Given the description of an element on the screen output the (x, y) to click on. 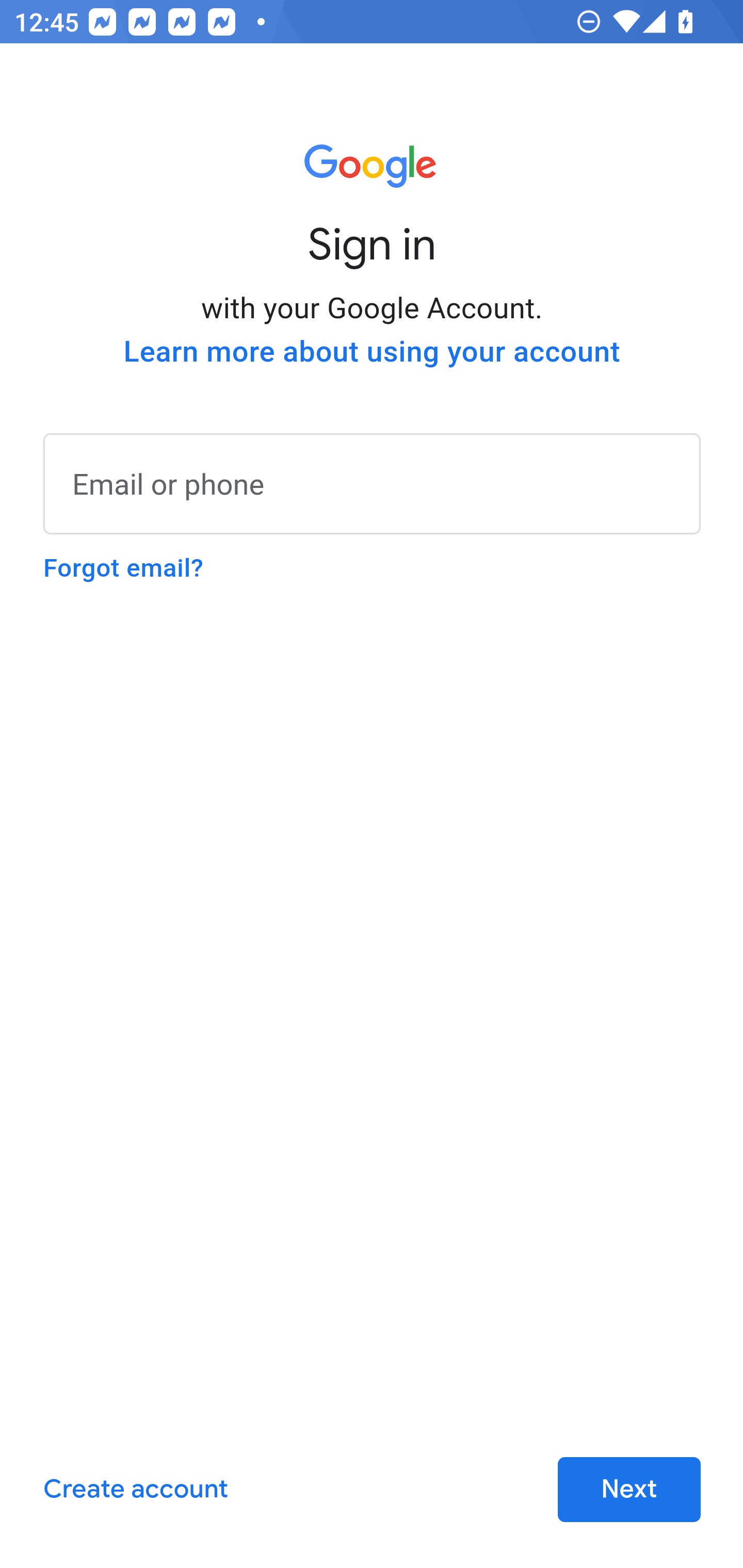
Learn more about using your account (371, 351)
Forgot email? (123, 568)
Create account (134, 1490)
Next (629, 1490)
